Given the description of an element on the screen output the (x, y) to click on. 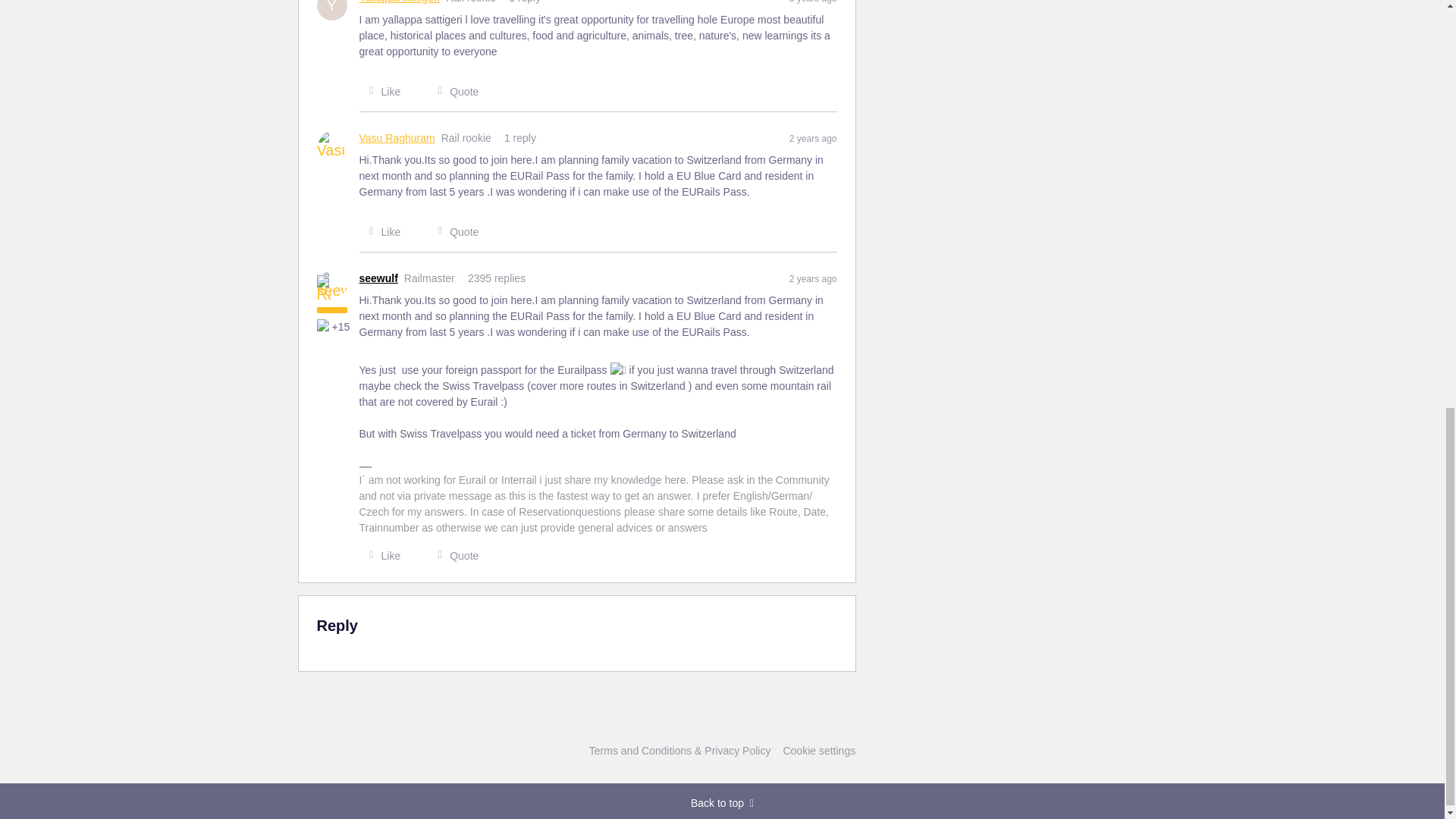
Quote (453, 90)
2 years ago (813, 137)
Quote (453, 231)
Like (380, 90)
Like (380, 231)
seewulf (378, 278)
3 years ago (813, 1)
Visit Gainsight.com (722, 719)
Y (332, 9)
Back to top (722, 803)
